Given the description of an element on the screen output the (x, y) to click on. 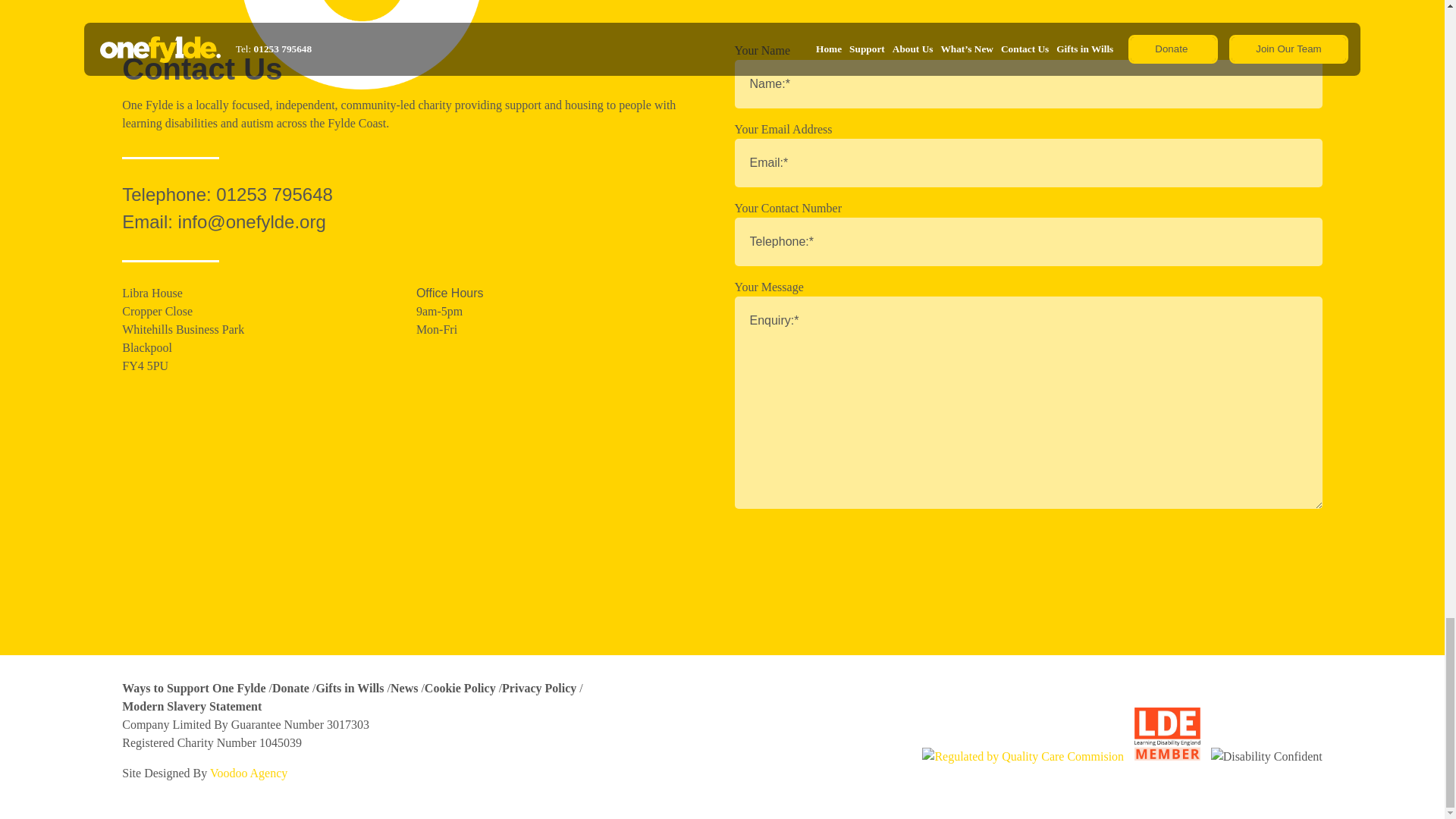
01253 795648 (274, 194)
Voodoo Agency (247, 772)
Modern Slavery Statement (192, 706)
Gifts in Wills (349, 687)
Ways to Support One Fylde (193, 687)
Privacy Policy (539, 687)
Cookie Policy (460, 687)
Submit Contact (800, 551)
Donate (290, 687)
News (403, 687)
